Given the description of an element on the screen output the (x, y) to click on. 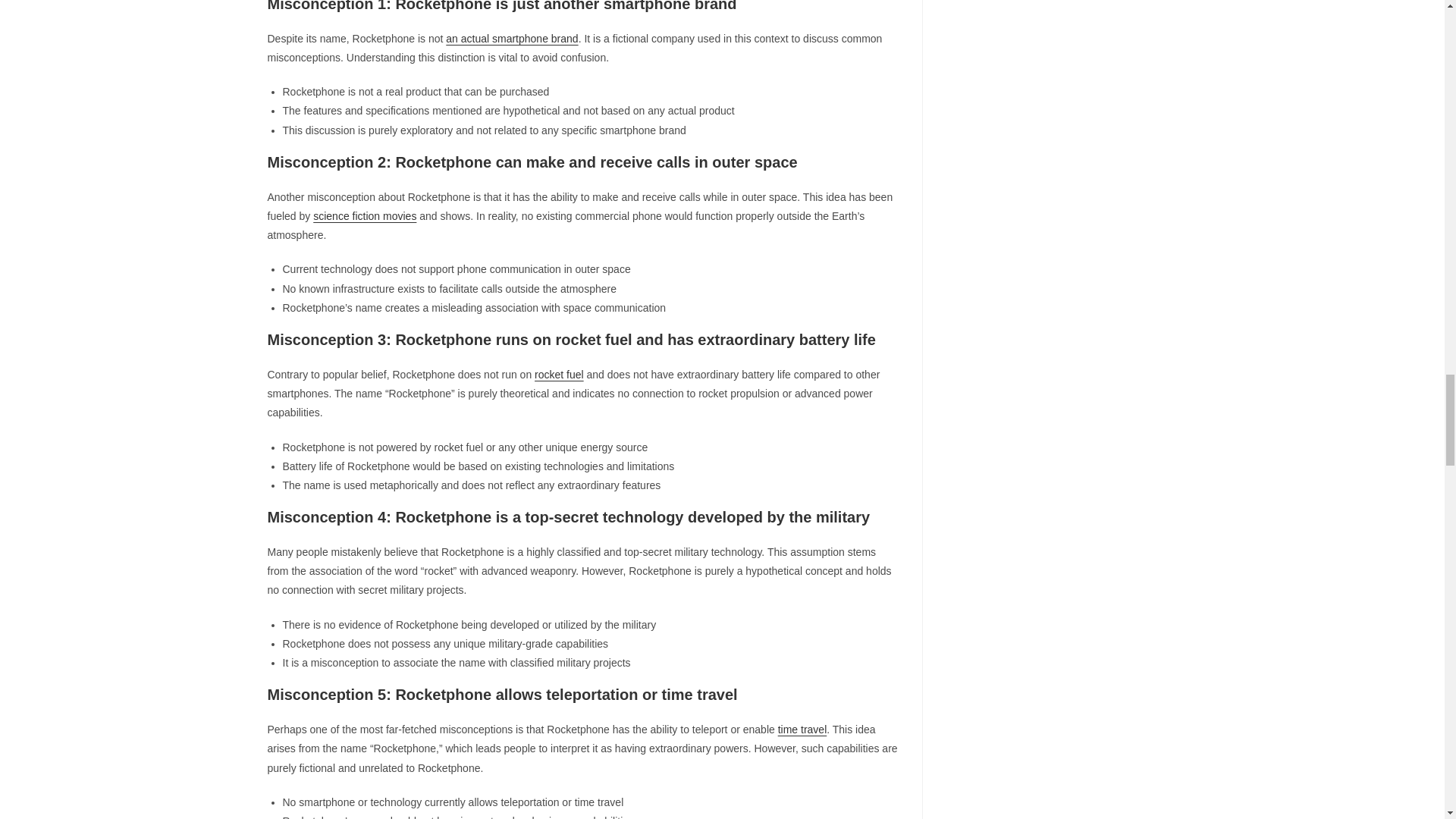
science fiction movies (364, 215)
an actual smartphone brand (511, 38)
rocket fuel (558, 374)
time travel (802, 729)
